Given the description of an element on the screen output the (x, y) to click on. 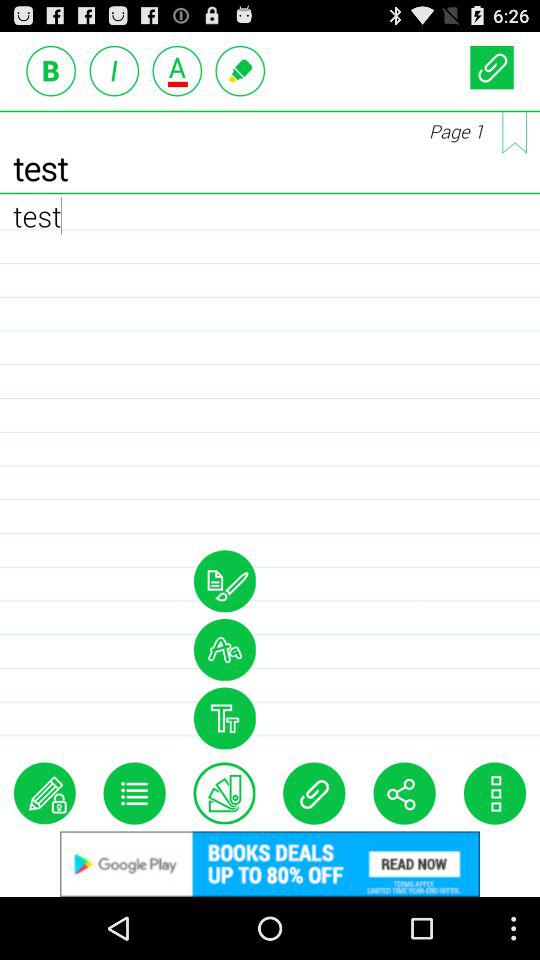
make text bold (51, 70)
